Given the description of an element on the screen output the (x, y) to click on. 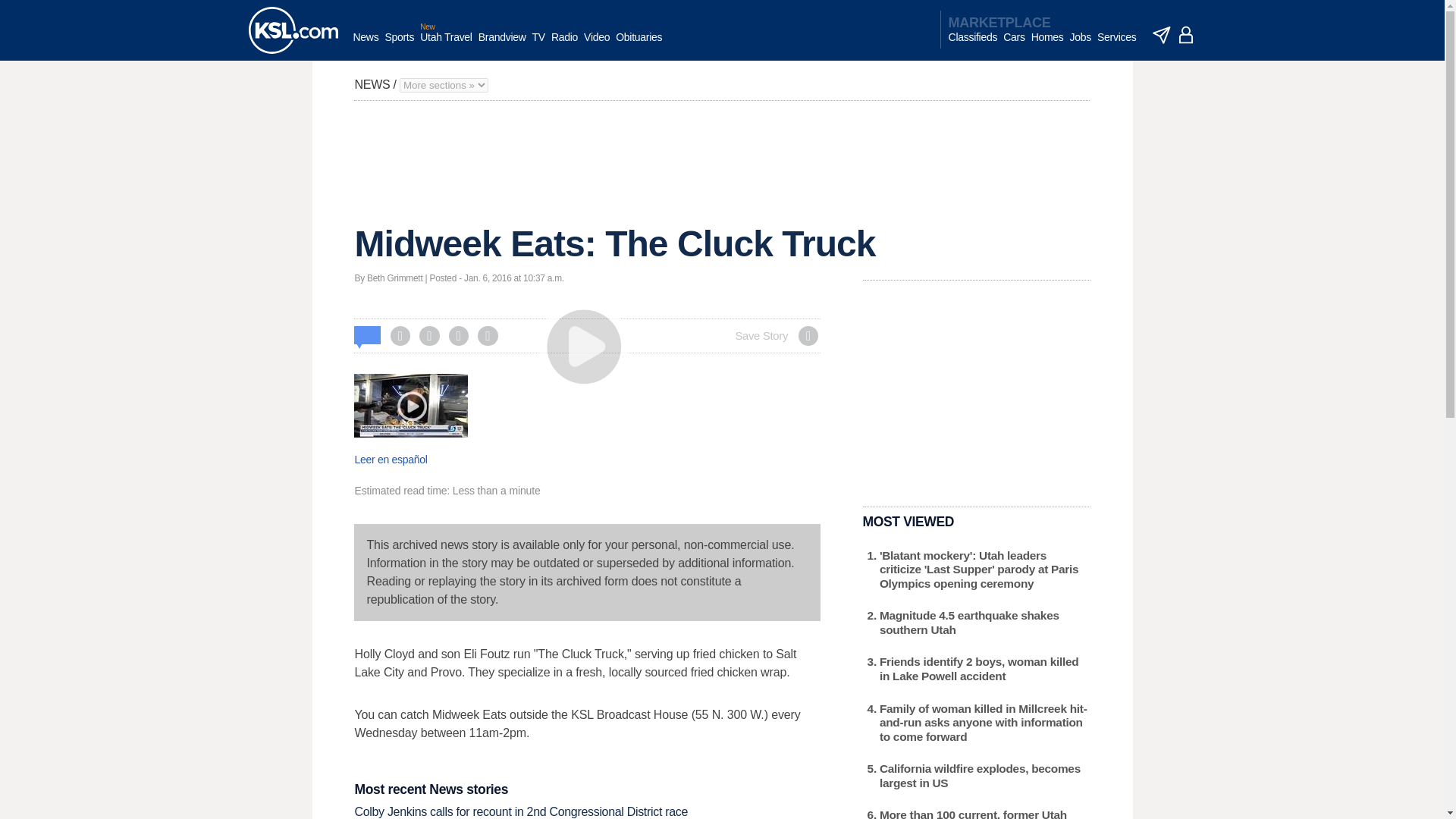
account - logged out (1185, 34)
Utah Travel (445, 45)
Sports (398, 45)
Brandview (502, 45)
KSL homepage (292, 30)
KSL homepage (292, 29)
